Given the description of an element on the screen output the (x, y) to click on. 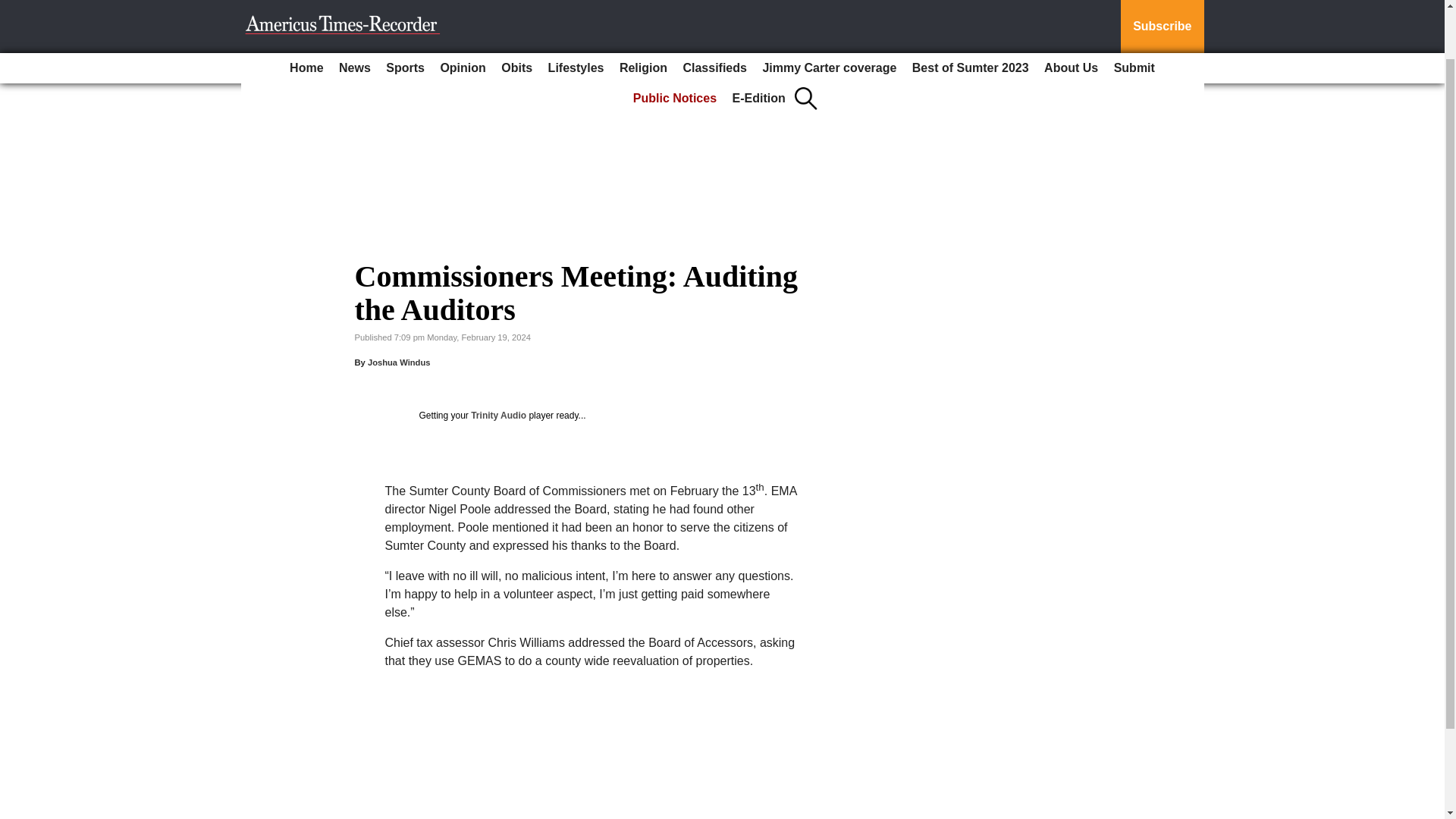
Lifestyles (575, 12)
Sports (405, 12)
About Us (1070, 12)
Opinion (462, 12)
Classifieds (714, 12)
Jimmy Carter coverage (828, 12)
Trinity Audio (497, 415)
News (355, 12)
Religion (642, 12)
Public Notices (674, 39)
Best of Sumter 2023 (970, 12)
Home (306, 12)
Joshua Windus (399, 361)
Obits (516, 12)
E-Edition (759, 39)
